Given the description of an element on the screen output the (x, y) to click on. 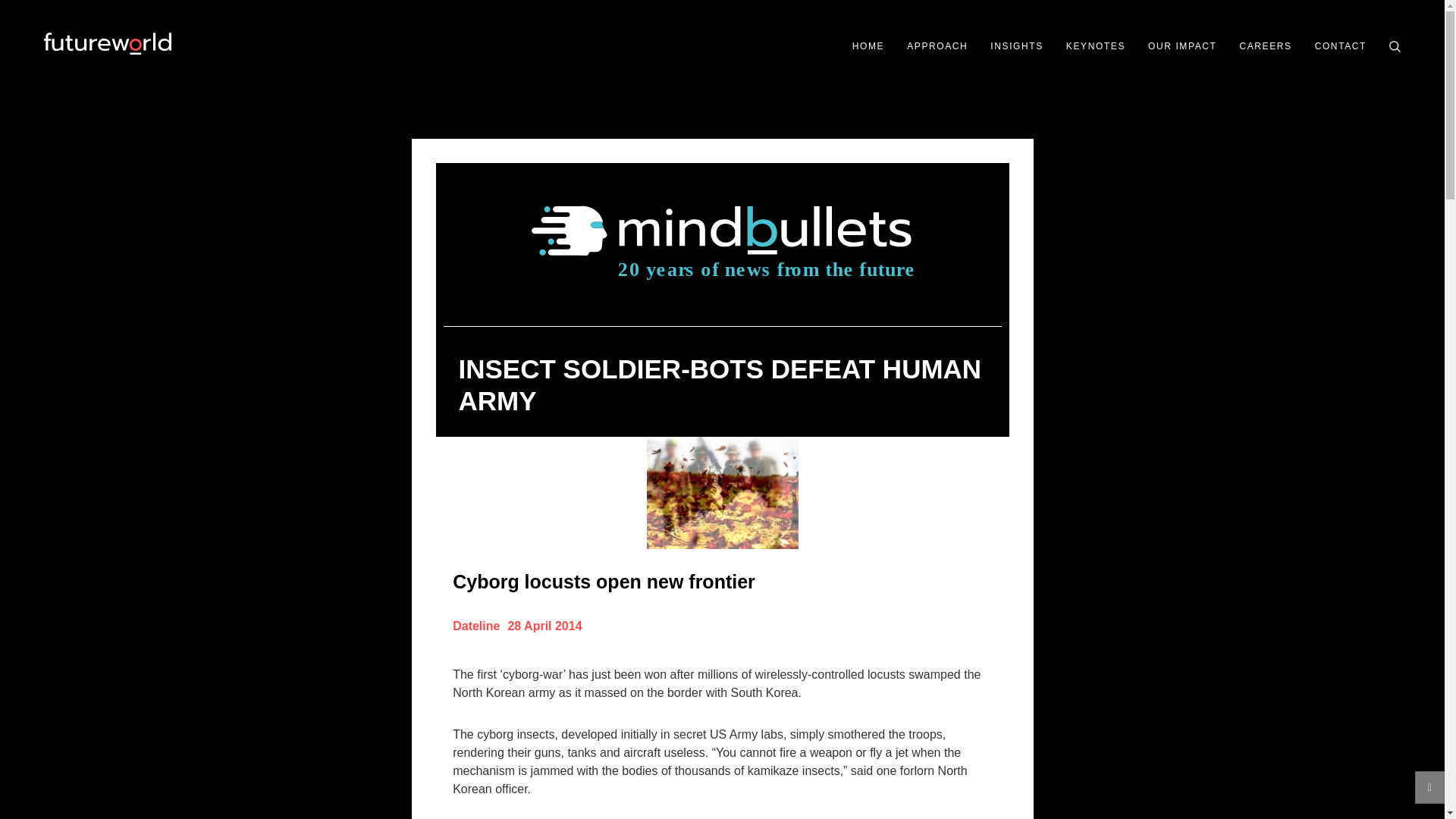
APPROACH (937, 46)
INSIGHTS (1016, 46)
CONTACT (1340, 46)
HOME (867, 46)
CAREERS (1265, 46)
OUR IMPACT (1181, 46)
KEYNOTES (1095, 46)
